Given the description of an element on the screen output the (x, y) to click on. 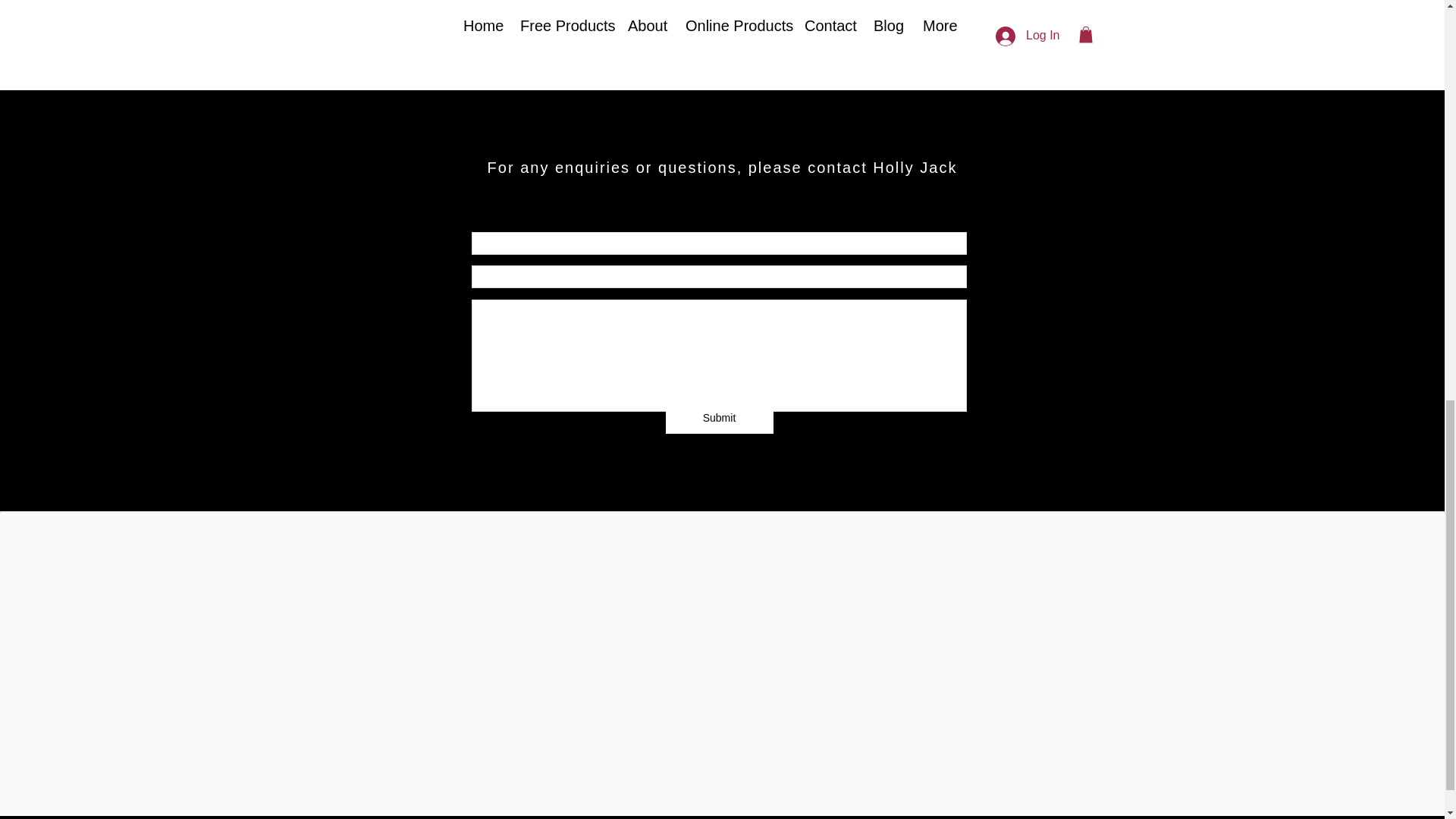
Store Policy    (719, 703)
FAQ  (487, 703)
Payment Methods  (918, 703)
Submit (719, 418)
Wix.com (856, 784)
